Given the description of an element on the screen output the (x, y) to click on. 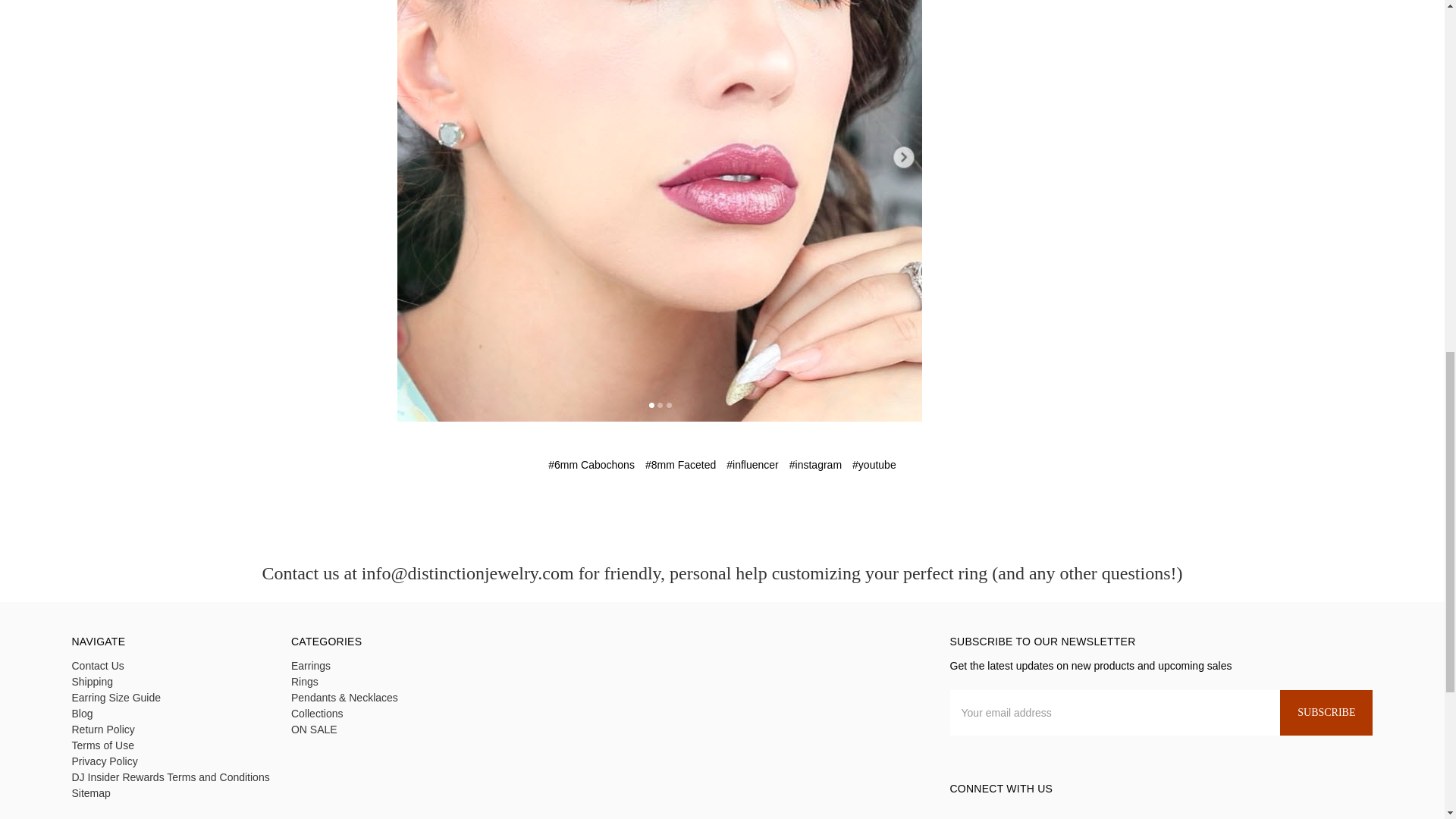
Subscribe (1326, 712)
Twitter (746, 509)
Print (720, 509)
Pinterest (775, 509)
Email (693, 509)
Facebook (667, 509)
